Given the description of an element on the screen output the (x, y) to click on. 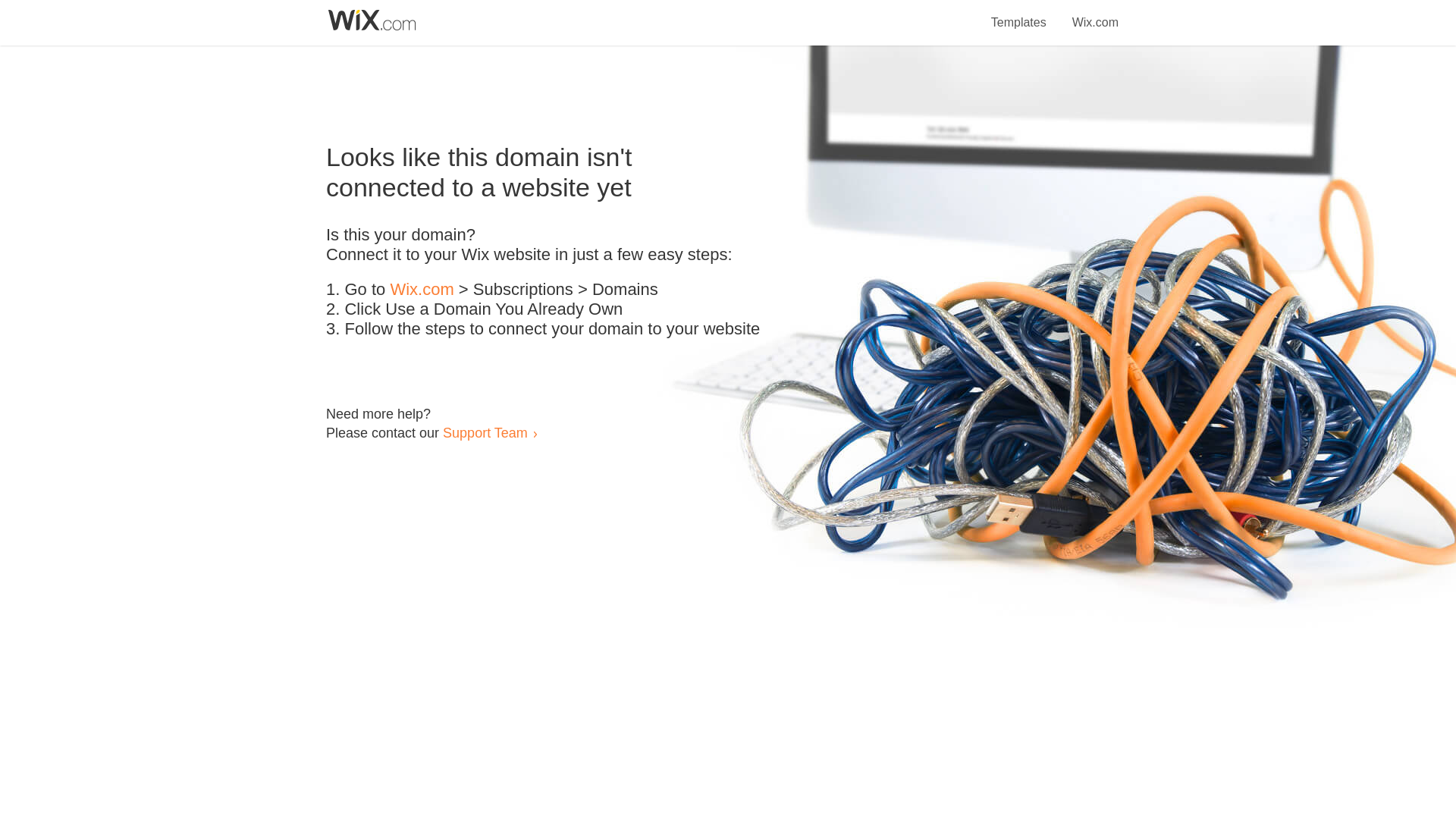
Wix.com (421, 289)
Wix.com (1095, 14)
Support Team (484, 432)
Templates (1018, 14)
